Given the description of an element on the screen output the (x, y) to click on. 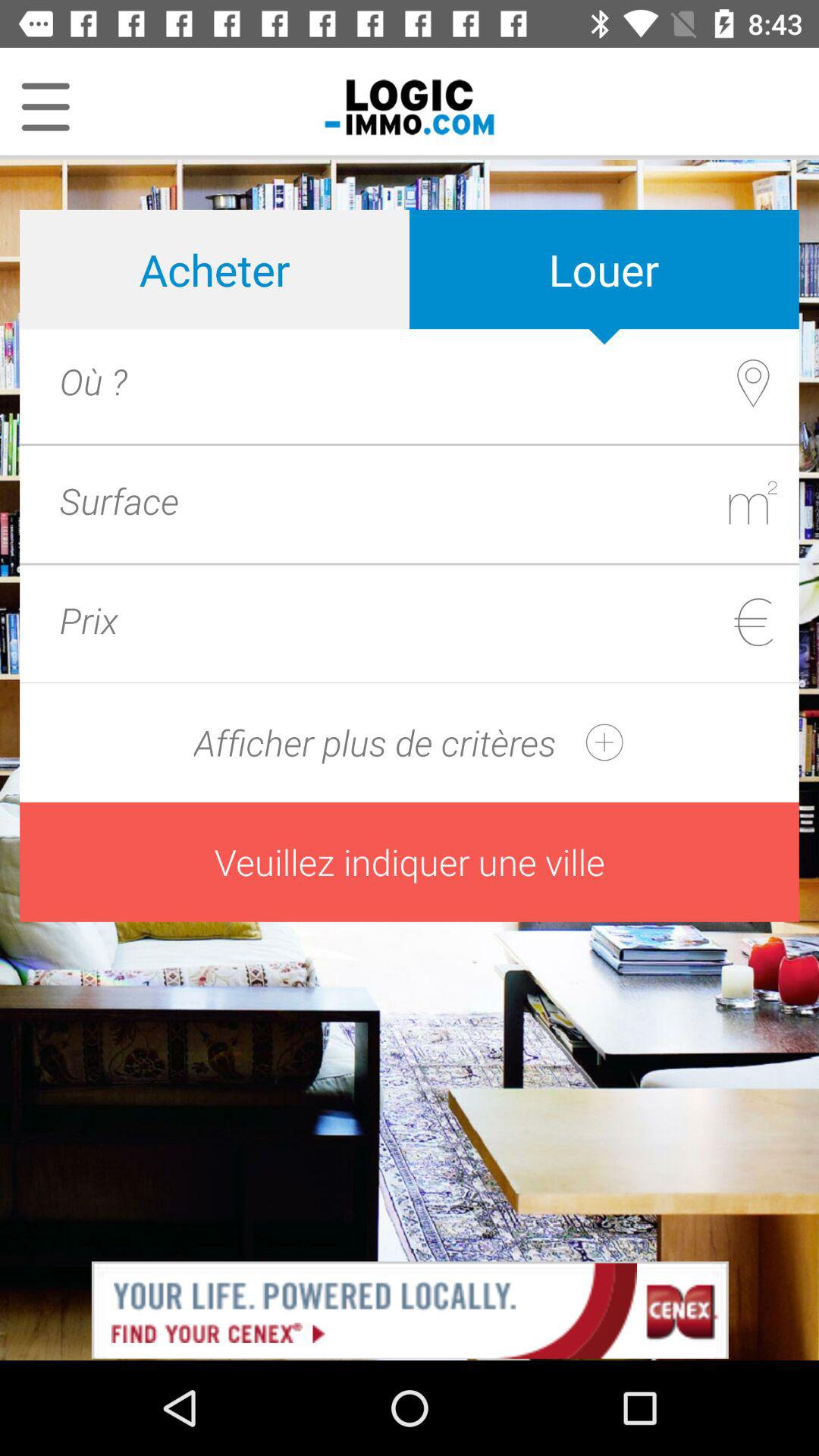
text area (467, 500)
